Given the description of an element on the screen output the (x, y) to click on. 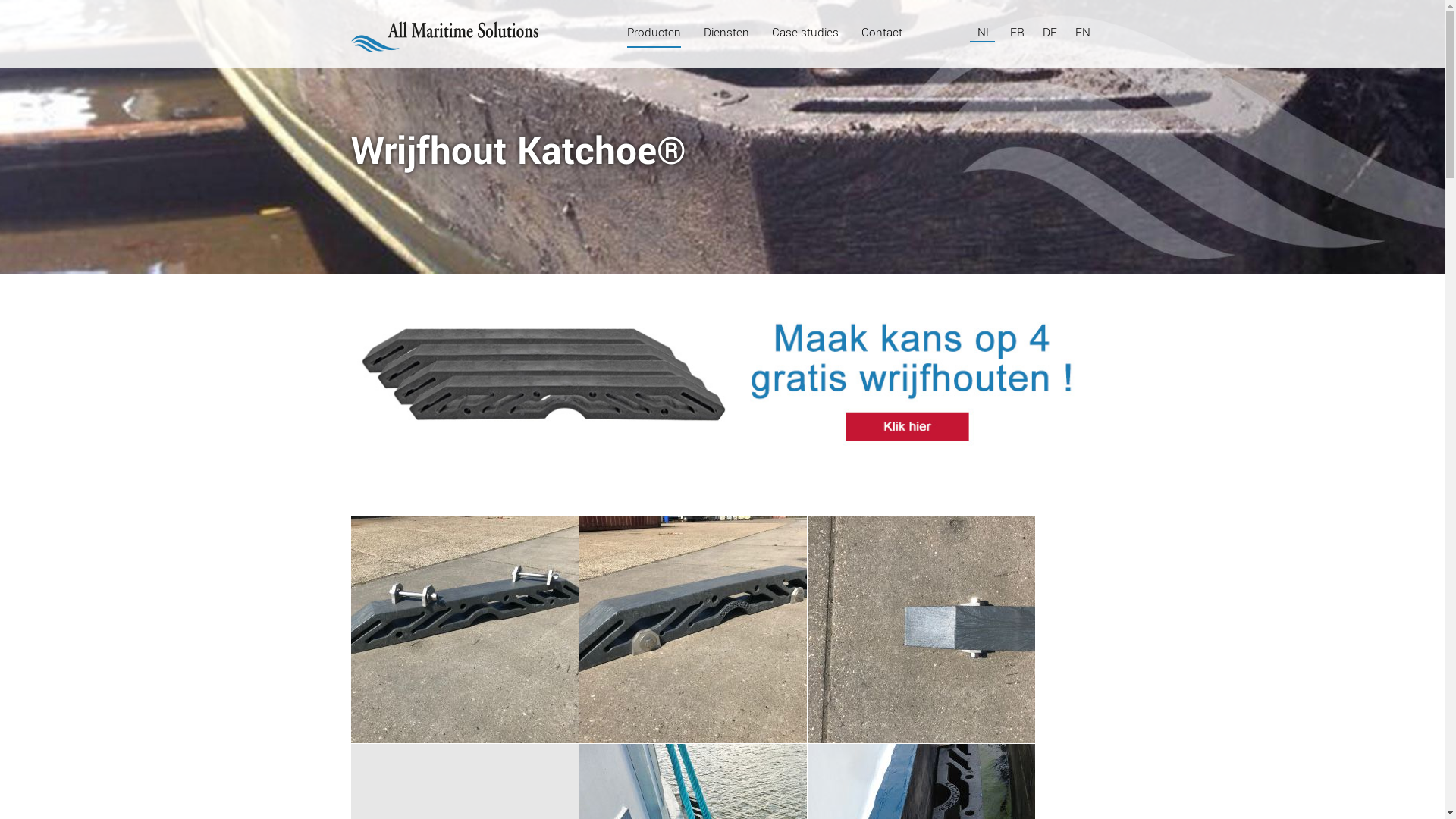
FR Element type: text (1018, 32)
Click to enlarge image IMG_8195.jpg Element type: hover (920, 629)
Producten Element type: text (653, 32)
Contact Element type: text (881, 32)
NL Element type: text (985, 32)
Diensten Element type: text (726, 32)
Click to enlarge image IMG_8191.jpg Element type: hover (463, 629)
Click to enlarge image IMG_8193.jpg Element type: hover (692, 629)
Case studies Element type: text (804, 32)
DE Element type: text (1050, 32)
EN Element type: text (1082, 32)
